Given the description of an element on the screen output the (x, y) to click on. 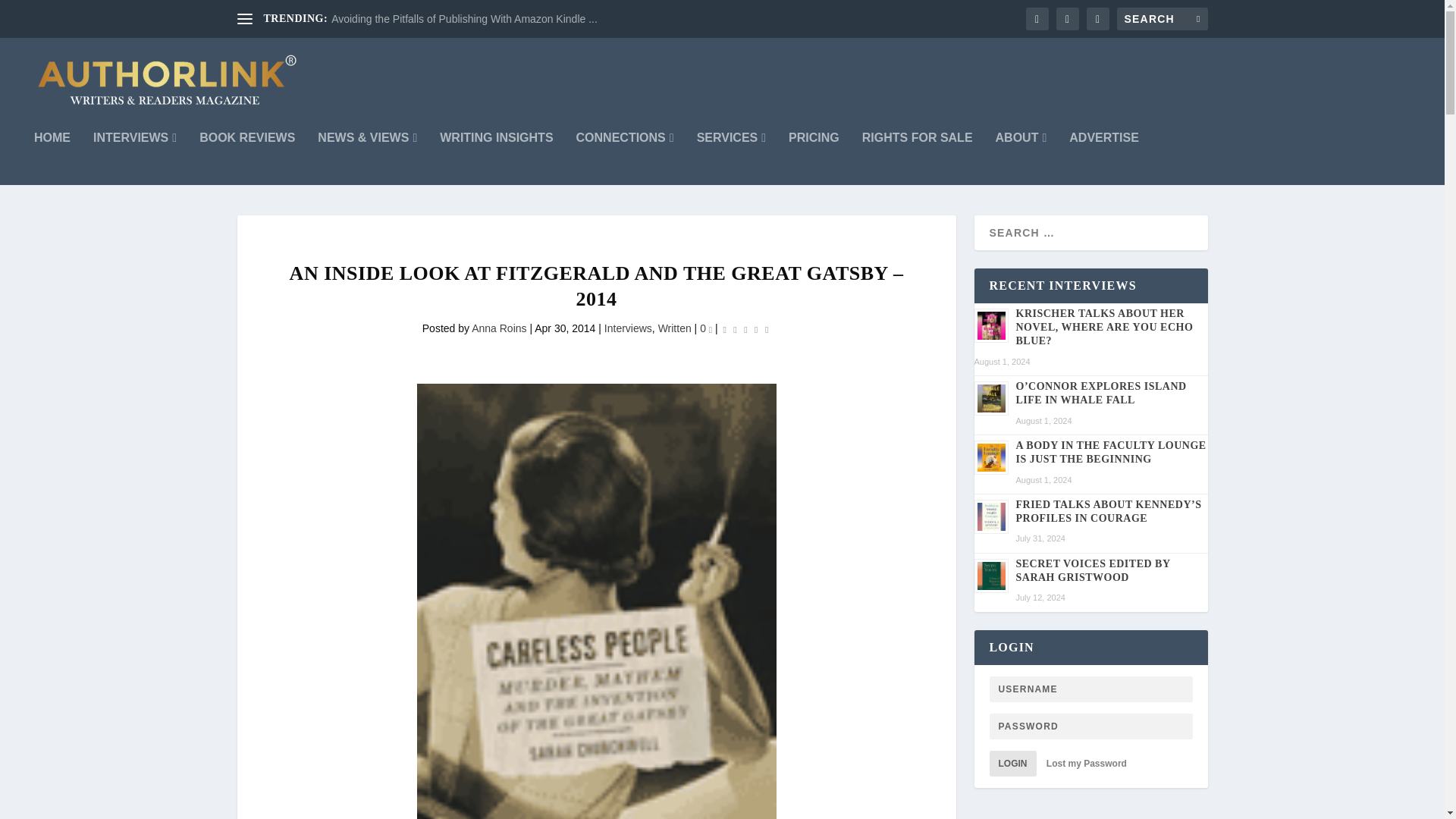
WRITING INSIGHTS (496, 158)
SERVICES (731, 158)
BOOK REVIEWS (247, 158)
PRICING (814, 158)
Rating: 0.00 (745, 329)
Avoiding the Pitfalls of Publishing With Amazon Kindle ... (463, 19)
ABOUT (1020, 158)
CONNECTIONS (625, 158)
Posts by Anna Roins (498, 328)
RIGHTS FOR SALE (916, 158)
